Given the description of an element on the screen output the (x, y) to click on. 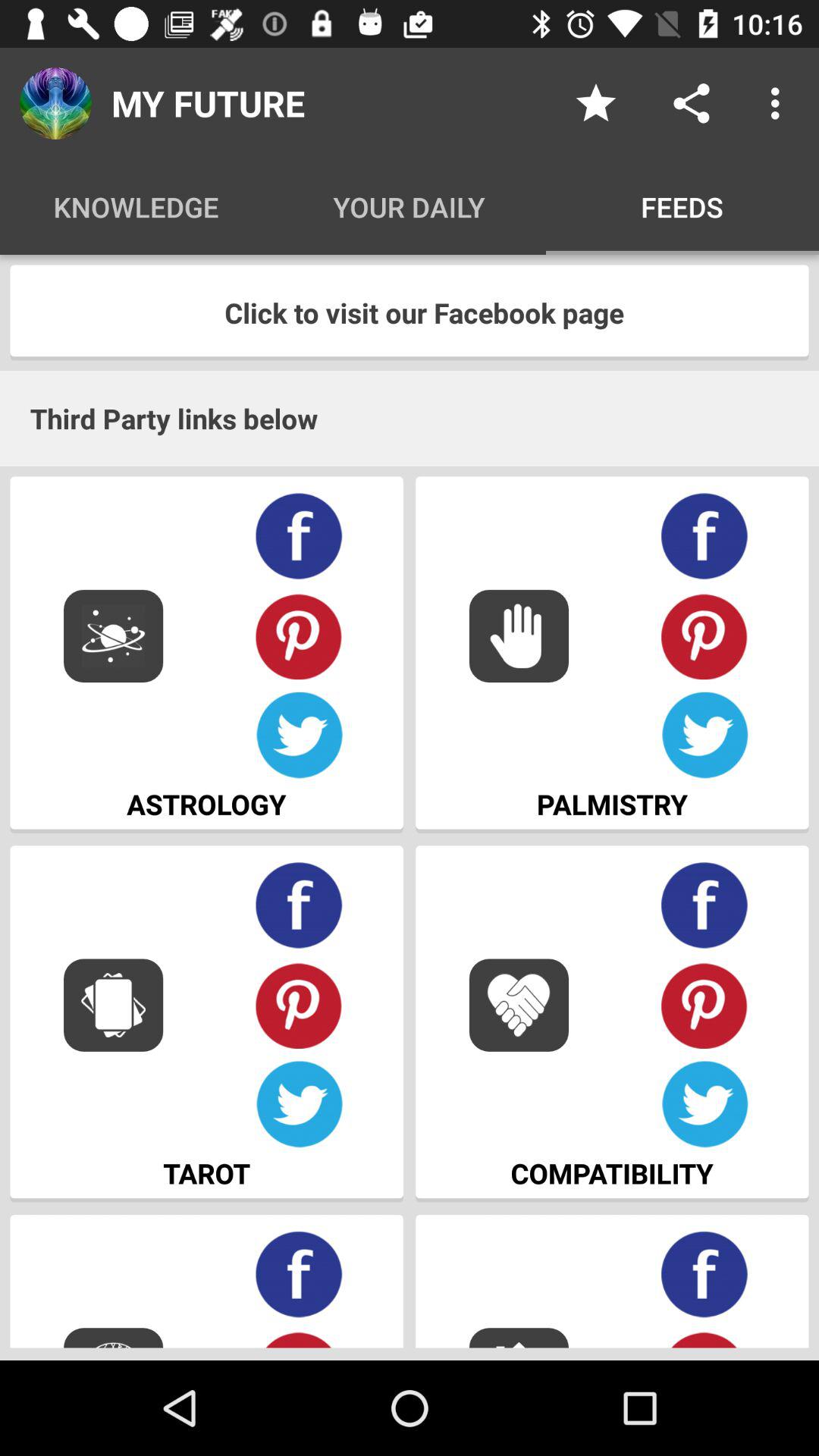
share to twitter (299, 735)
